Given the description of an element on the screen output the (x, y) to click on. 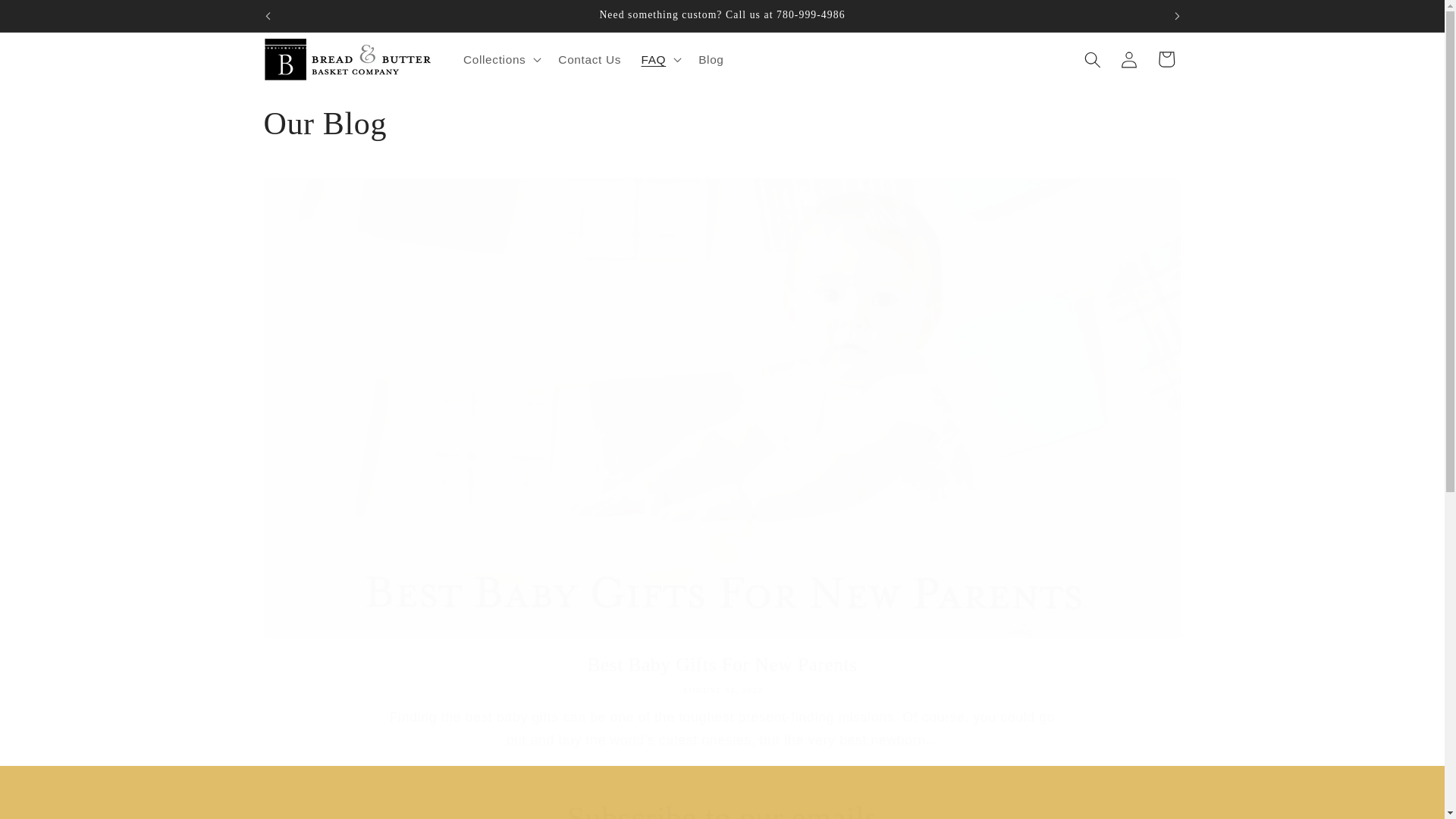
Subscribe to our emails (722, 808)
Skip to content (50, 19)
Our Blog (721, 123)
Contact Us (589, 59)
